Given the description of an element on the screen output the (x, y) to click on. 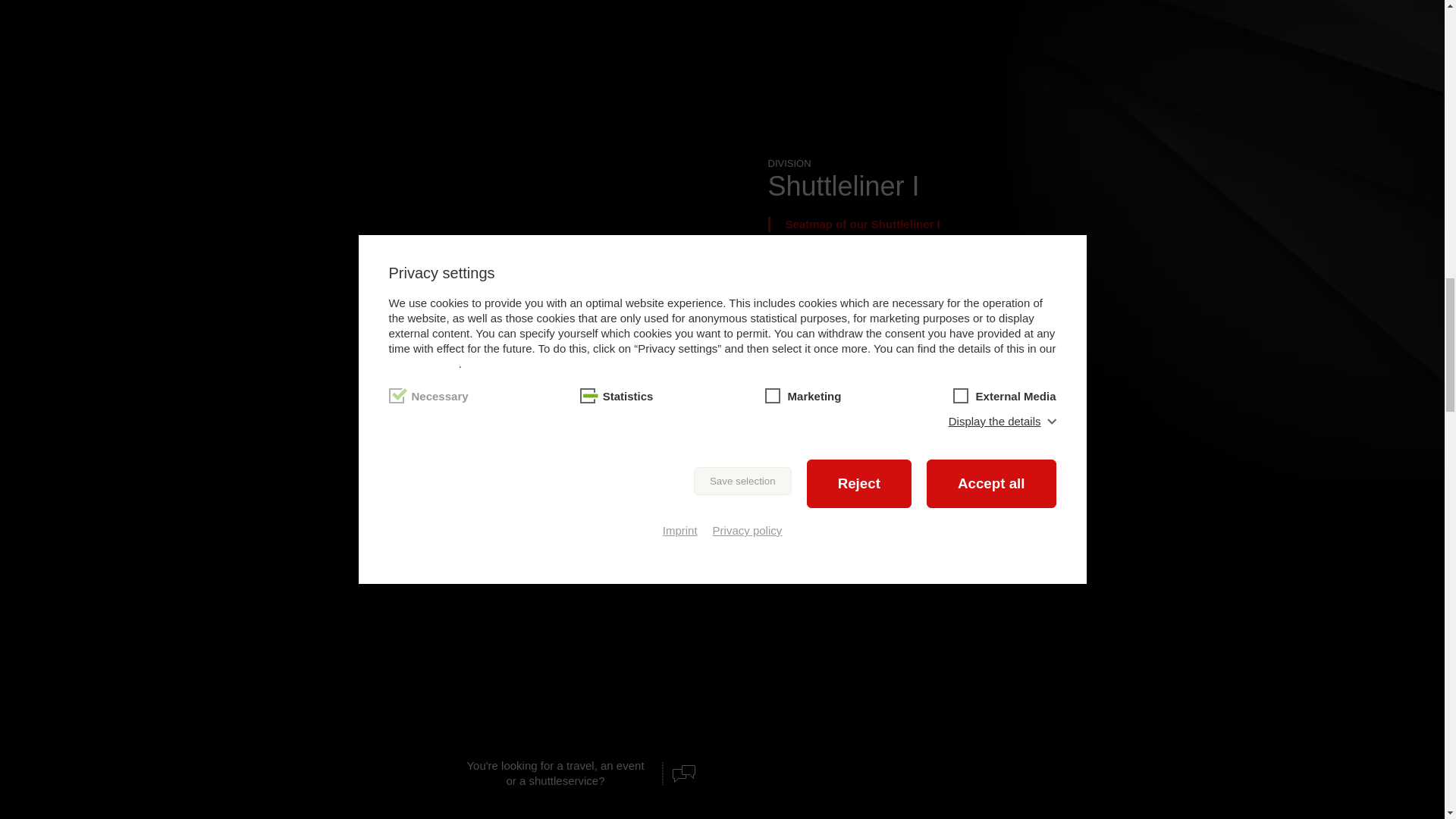
Download sketch PDF (926, 347)
